Given the description of an element on the screen output the (x, y) to click on. 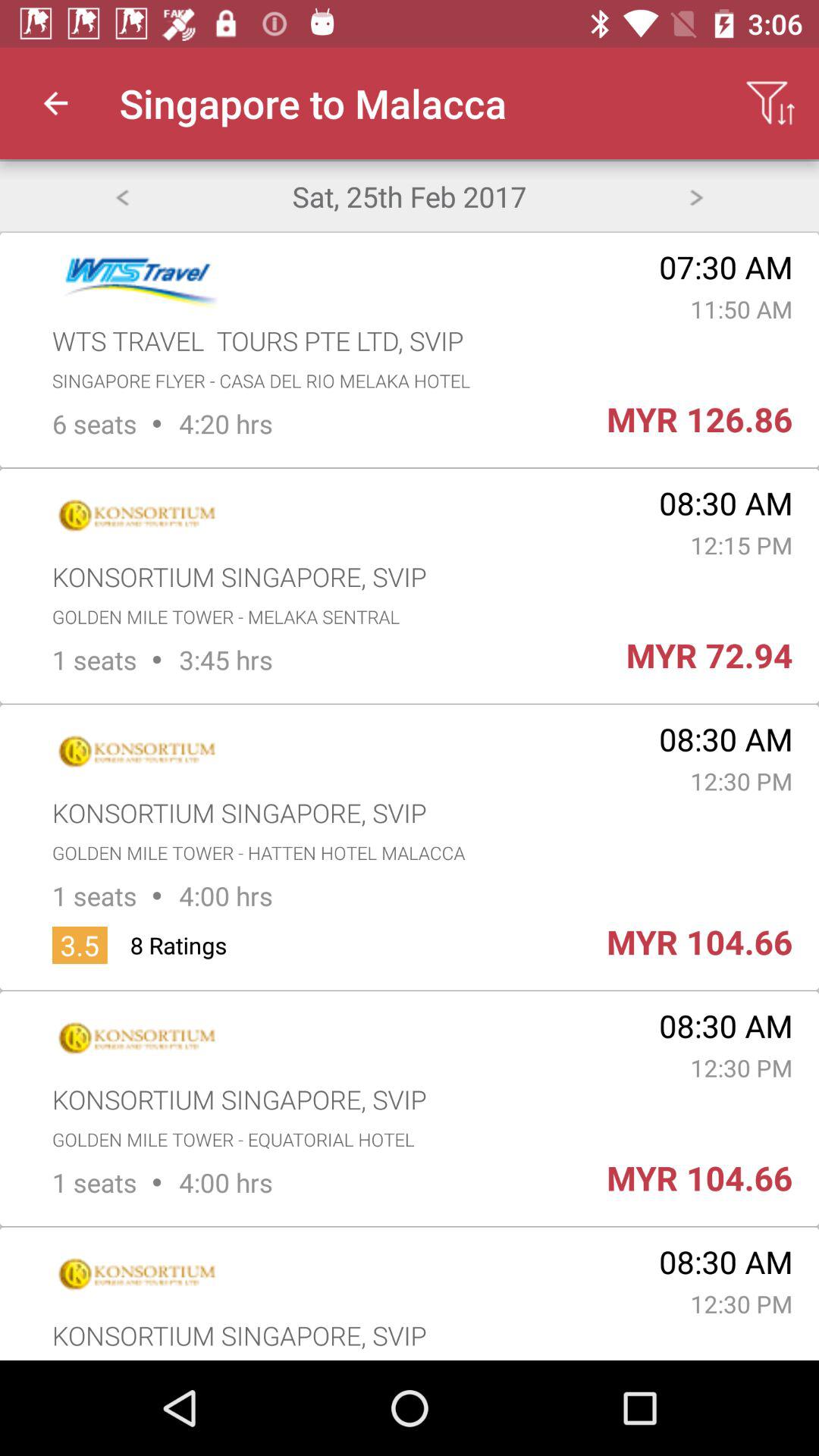
choose the item next to sat 25th feb item (696, 196)
